Given the description of an element on the screen output the (x, y) to click on. 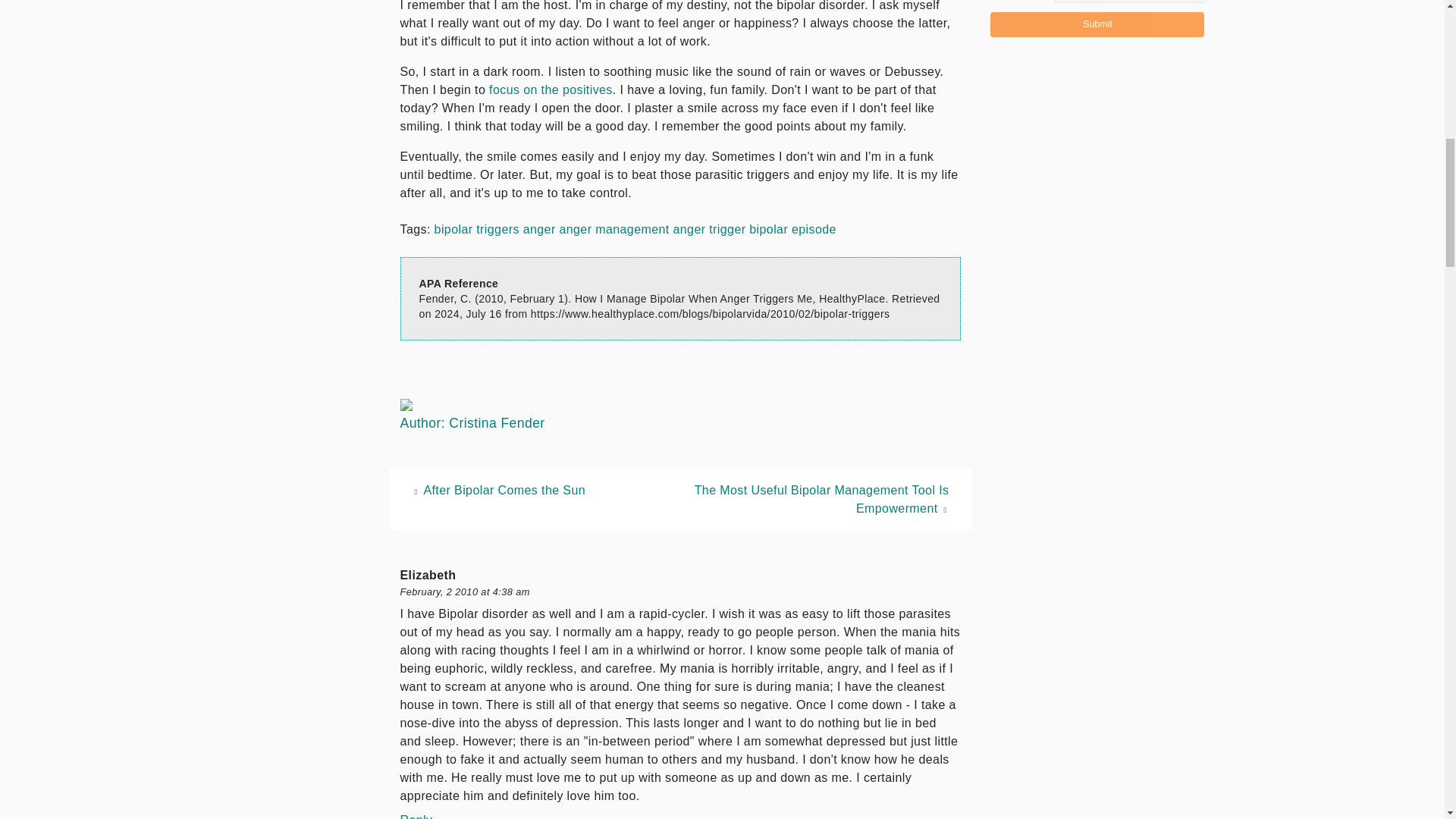
Submit (1097, 24)
Your Mental Health: Focusing on the Positive (550, 89)
